Given the description of an element on the screen output the (x, y) to click on. 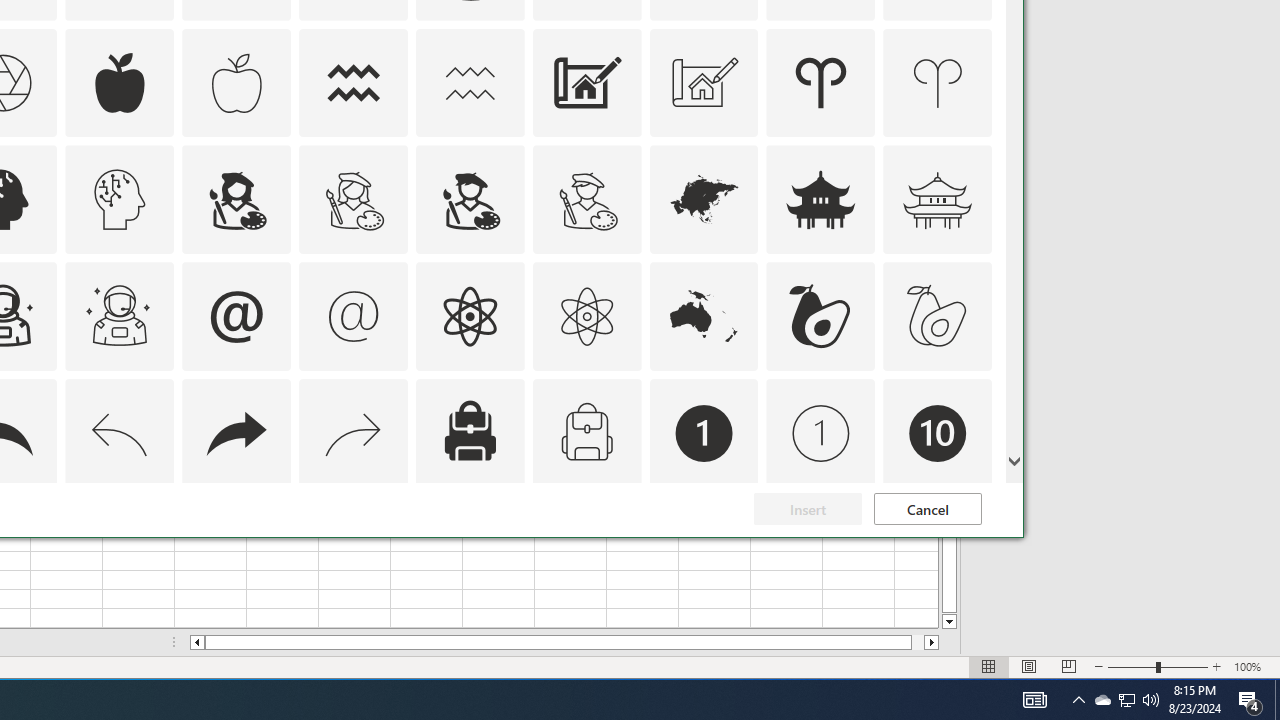
AutomationID: Icons_Atom_M (586, 316)
AutomationID: Icons_ArtificialIntelligence_M (120, 200)
AutomationID: Icons_Atom (469, 316)
AutomationID: Icons_ArtistFemale (236, 200)
AutomationID: Icons_Badge7_M (469, 550)
AutomationID: Icons_Badge1 (703, 434)
